Given the description of an element on the screen output the (x, y) to click on. 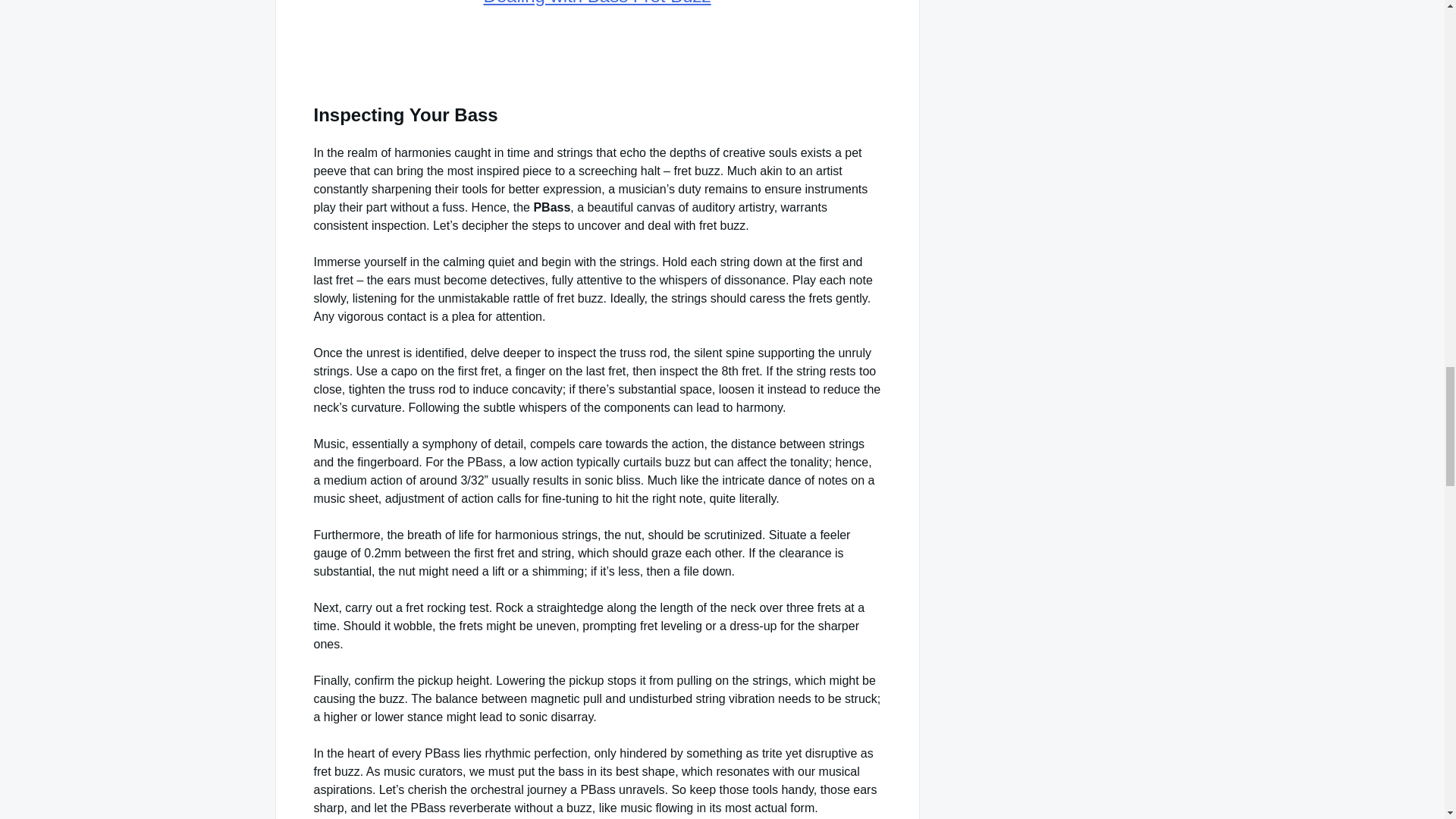
Dealing with Bass Fret Buzz (596, 2)
